Given the description of an element on the screen output the (x, y) to click on. 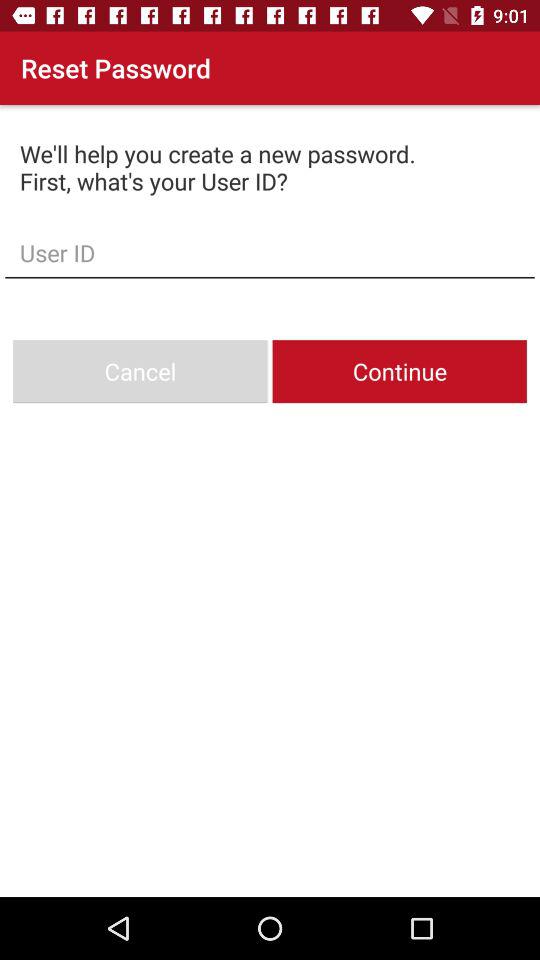
select icon to the left of the continue item (140, 371)
